Given the description of an element on the screen output the (x, y) to click on. 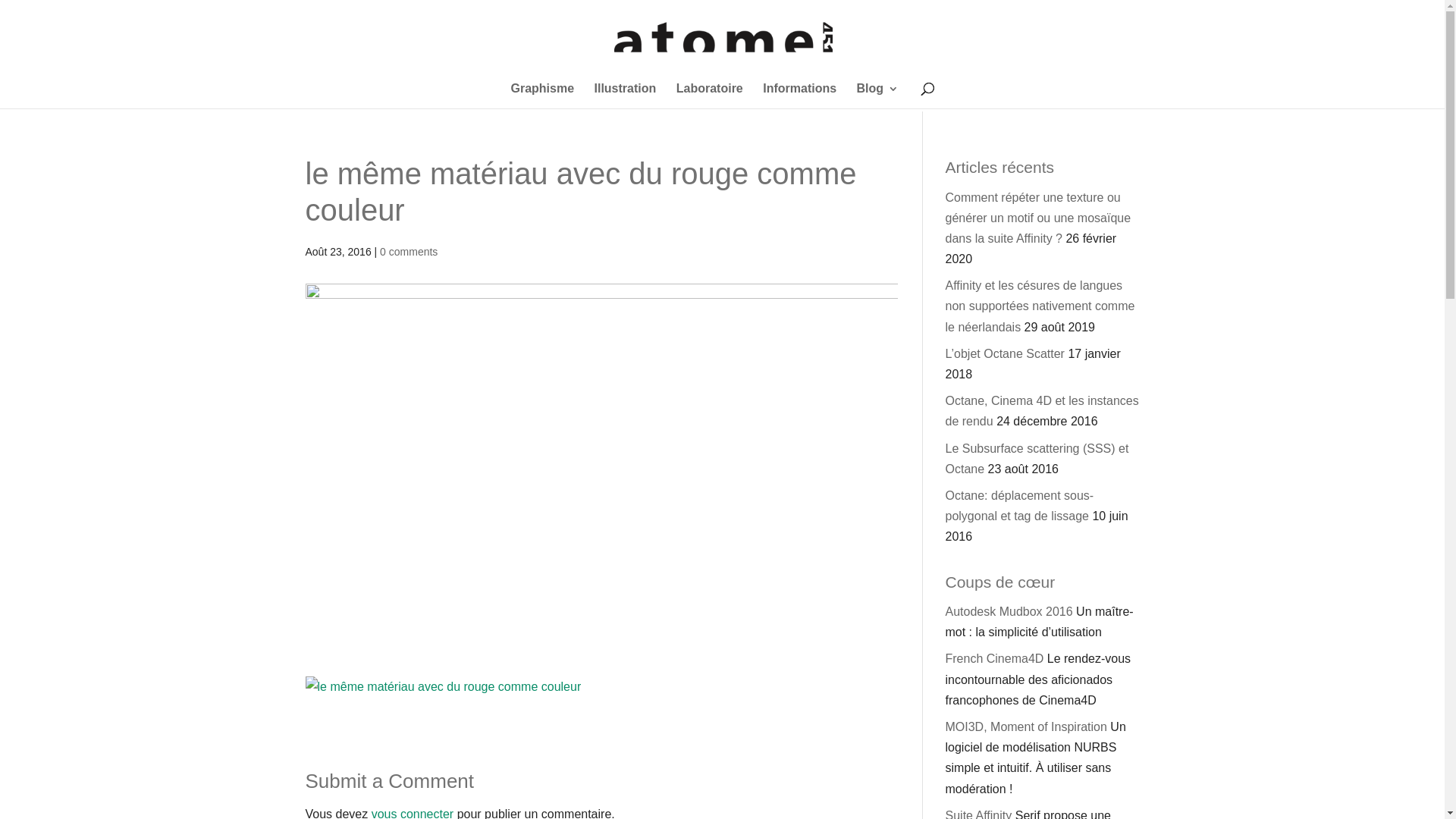
MOI3D, Moment of Inspiration Element type: text (1025, 726)
Octane, Cinema 4D et les instances de rendu Element type: text (1041, 410)
Illustration Element type: text (625, 95)
Informations Element type: text (799, 95)
0 comments Element type: text (408, 251)
Le Subsurface scattering (SSS) et Octane Element type: text (1036, 458)
Laboratoire Element type: text (709, 95)
Graphisme Element type: text (542, 95)
French Cinema4D Element type: text (993, 658)
Autodesk Mudbox 2016 Element type: text (1008, 611)
Blog Element type: text (877, 95)
